Given the description of an element on the screen output the (x, y) to click on. 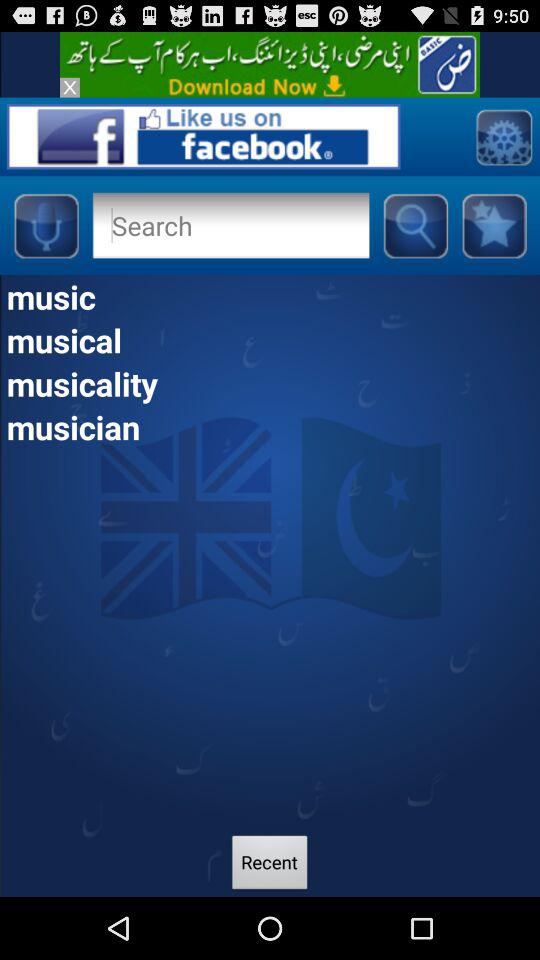
advertisement (270, 64)
